Given the description of an element on the screen output the (x, y) to click on. 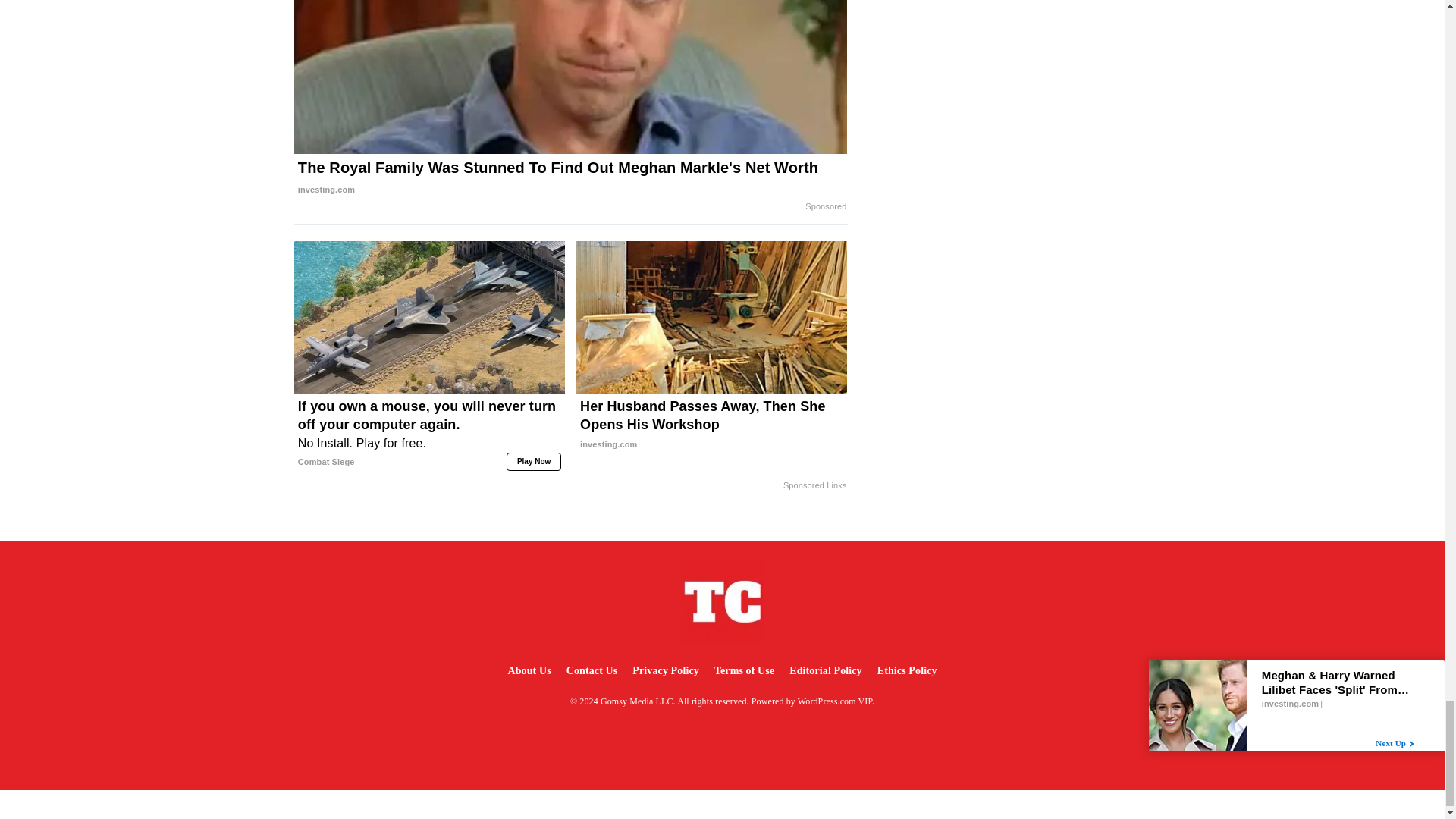
Sponsored (825, 206)
